Given the description of an element on the screen output the (x, y) to click on. 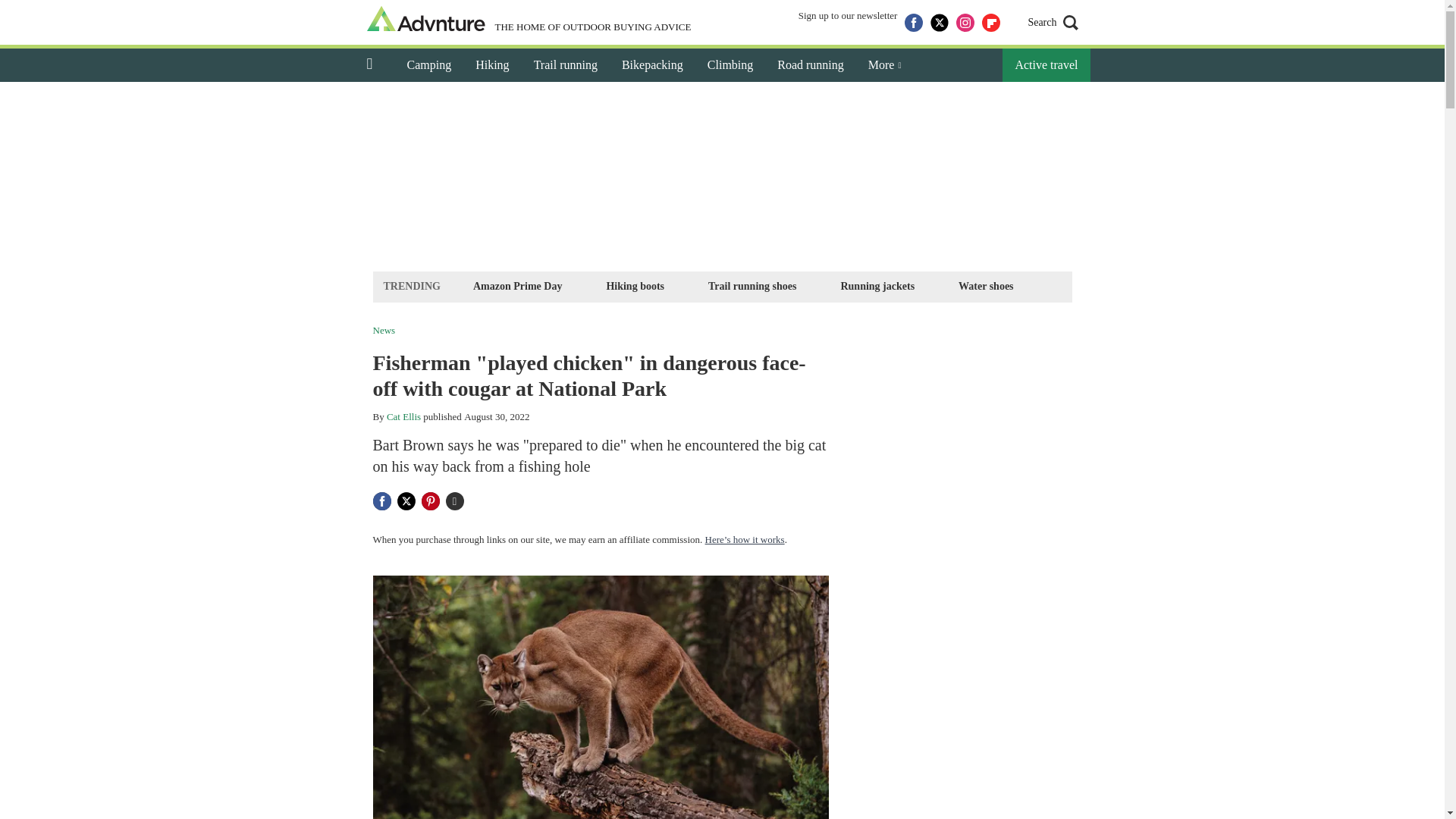
Sign up to our newsletter (847, 22)
Amazon Prime Day (517, 286)
Camping (428, 64)
Cat Ellis (403, 416)
Water shoes (985, 286)
Trail running shoes (752, 286)
Road running (810, 64)
Active travel (1046, 64)
Bikepacking (652, 64)
Hiking (492, 64)
Running jackets (877, 286)
Climbing (730, 64)
Trail running (565, 64)
Hiking boots (634, 286)
THE HOME OF OUTDOOR BUYING ADVICE (528, 20)
